Given the description of an element on the screen output the (x, y) to click on. 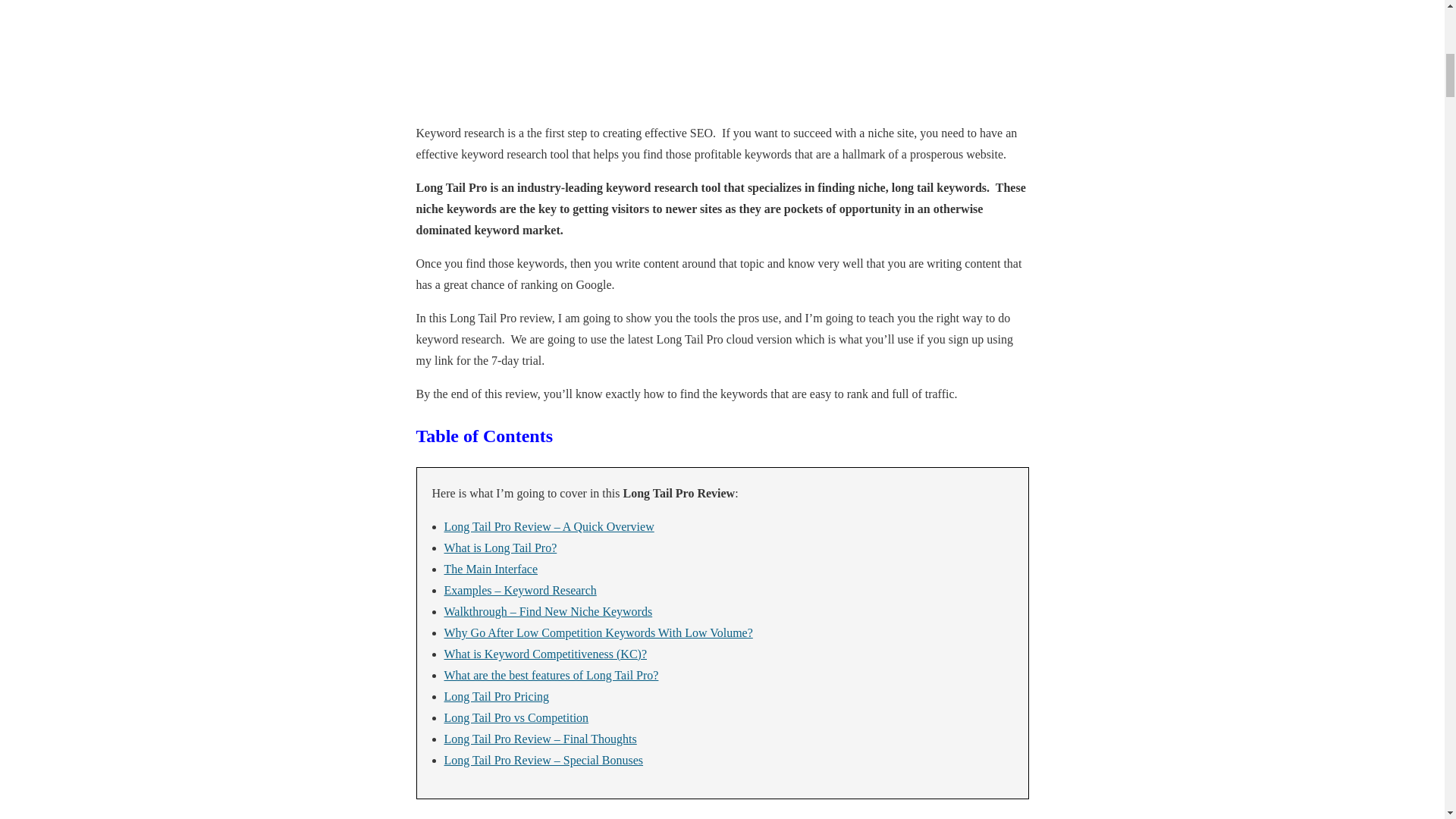
The Main Interface (490, 568)
Why Go After Low Competition Keywords With Low Volume? (598, 632)
Long Tail Pro Pricing (497, 696)
Long Tail Pro vs Competition (516, 717)
What are the best features of Long Tail Pro? (551, 675)
What is Long Tail Pro? (500, 547)
